Given the description of an element on the screen output the (x, y) to click on. 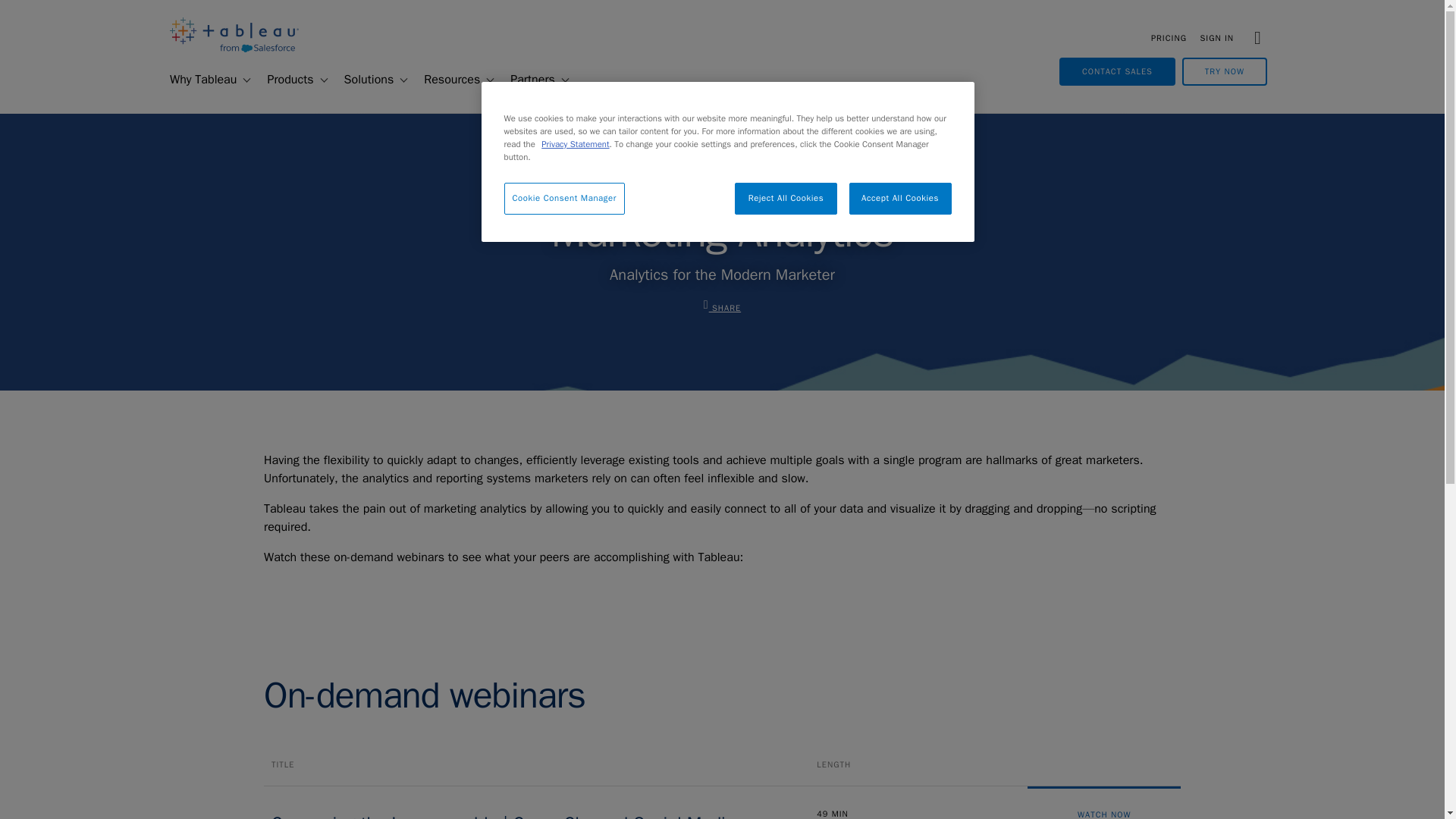
Why Tableau (196, 79)
Products (283, 79)
Solutions (362, 79)
Return to the Tableau Software home page (234, 48)
